Given the description of an element on the screen output the (x, y) to click on. 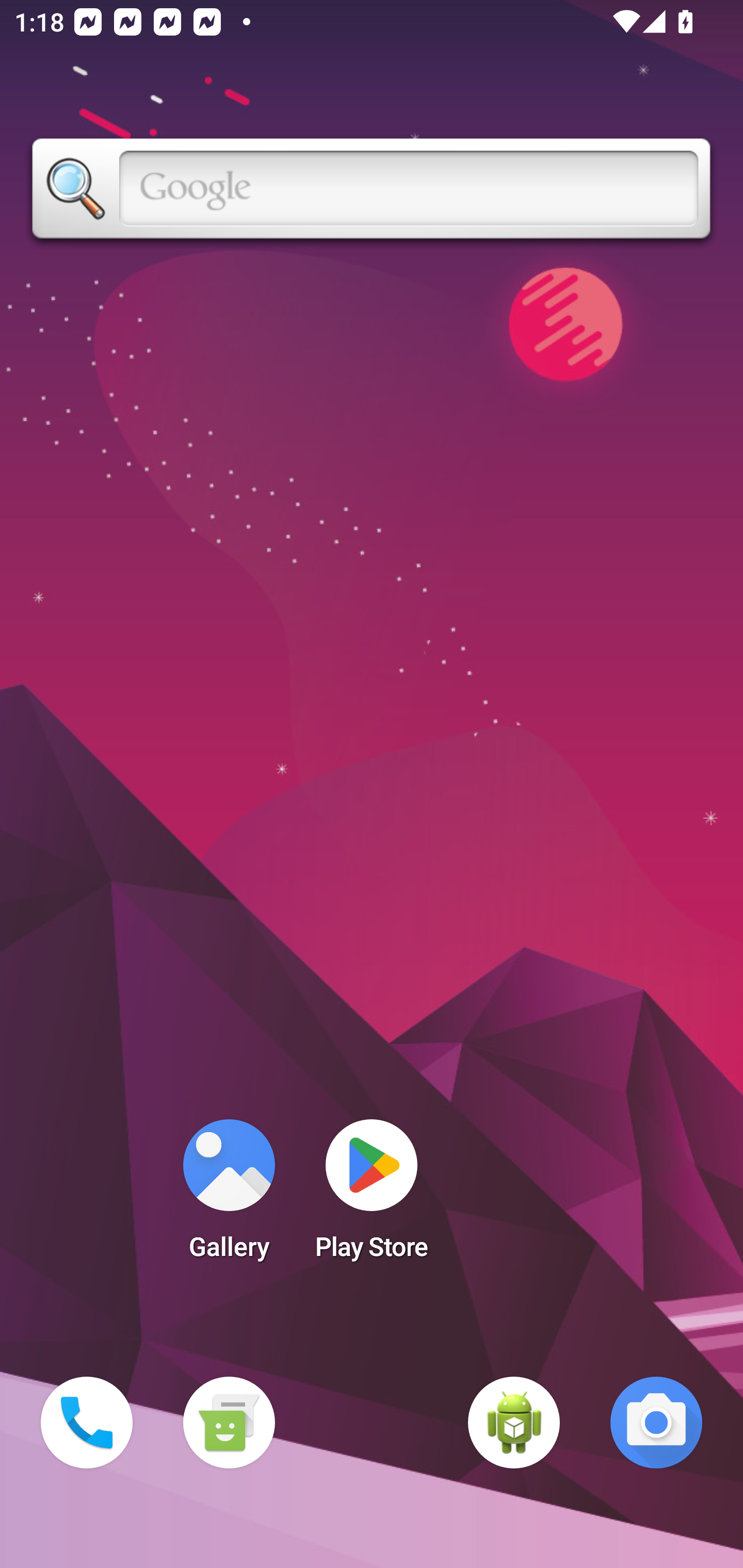
Gallery (228, 1195)
Play Store (371, 1195)
Phone (86, 1422)
Messaging (228, 1422)
WebView Browser Tester (513, 1422)
Camera (656, 1422)
